Given the description of an element on the screen output the (x, y) to click on. 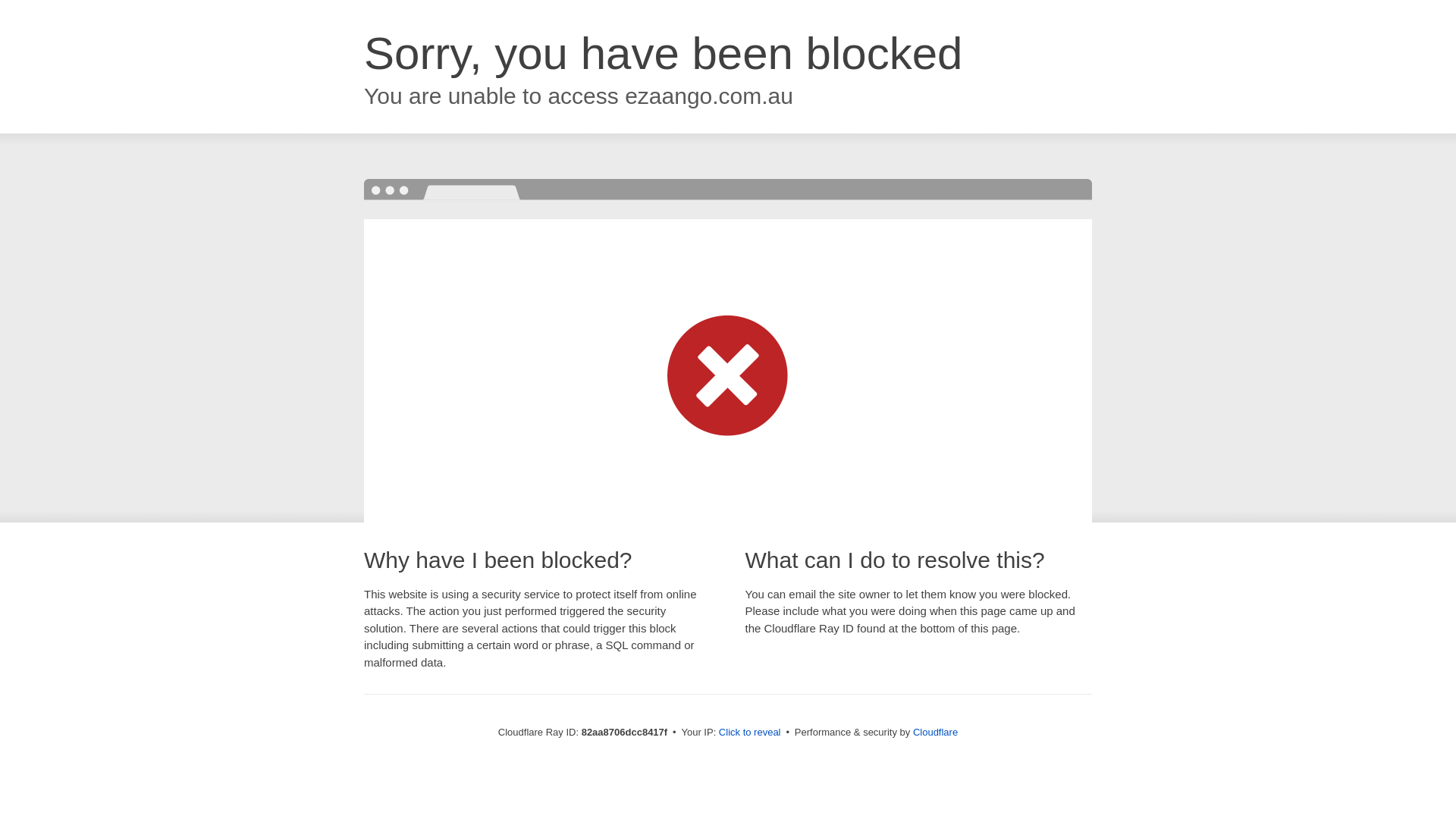
Cloudflare Element type: text (935, 731)
Click to reveal Element type: text (749, 732)
